Given the description of an element on the screen output the (x, y) to click on. 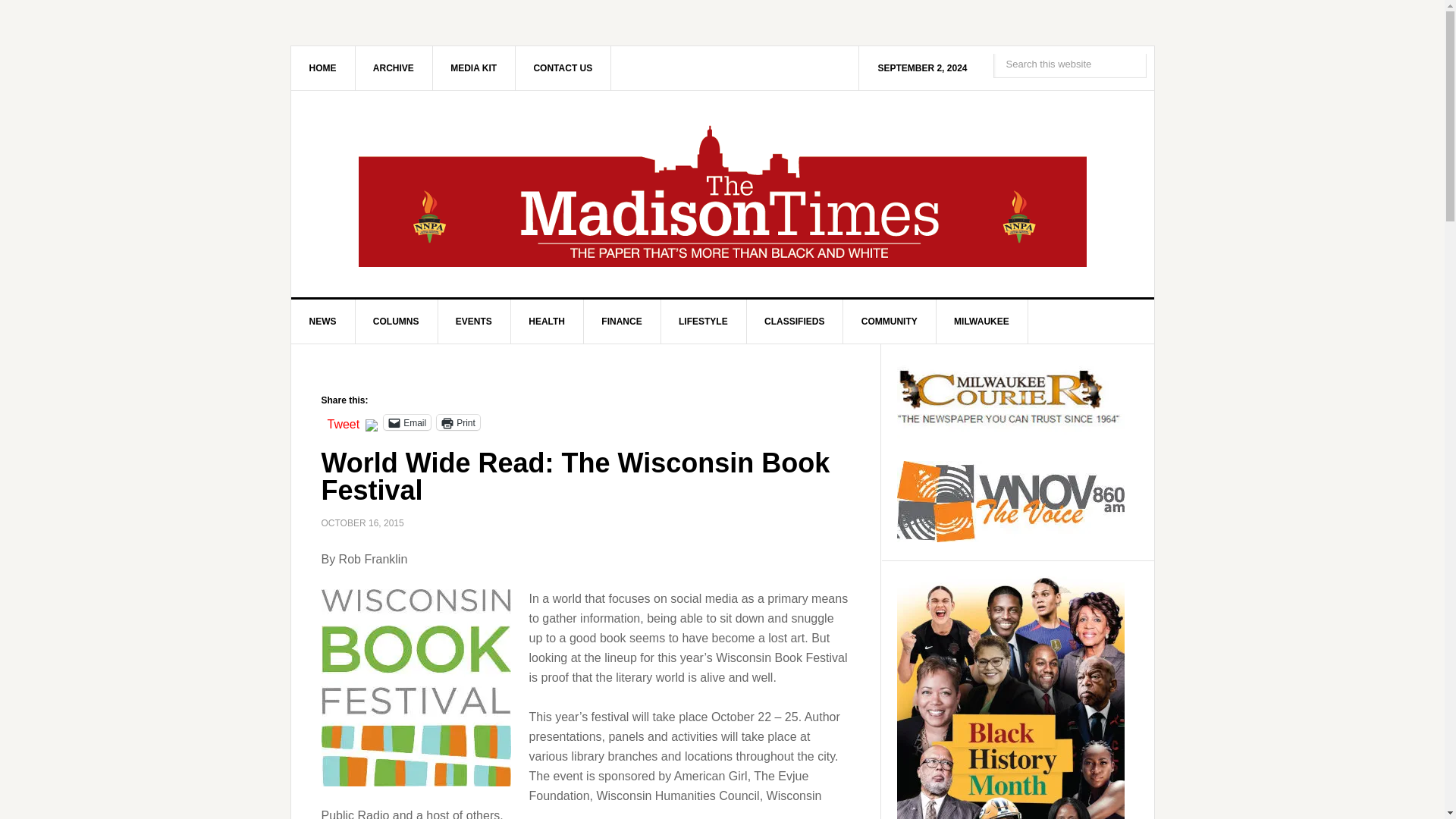
HOME (323, 67)
CONTACT US (563, 67)
FINANCE (622, 321)
NEWS (323, 321)
COMMUNITY (889, 321)
COLUMNS (396, 321)
HEALTH (547, 321)
Email (407, 421)
THE MADISON TIMES (722, 193)
CLASSIFIEDS (794, 321)
